Given the description of an element on the screen output the (x, y) to click on. 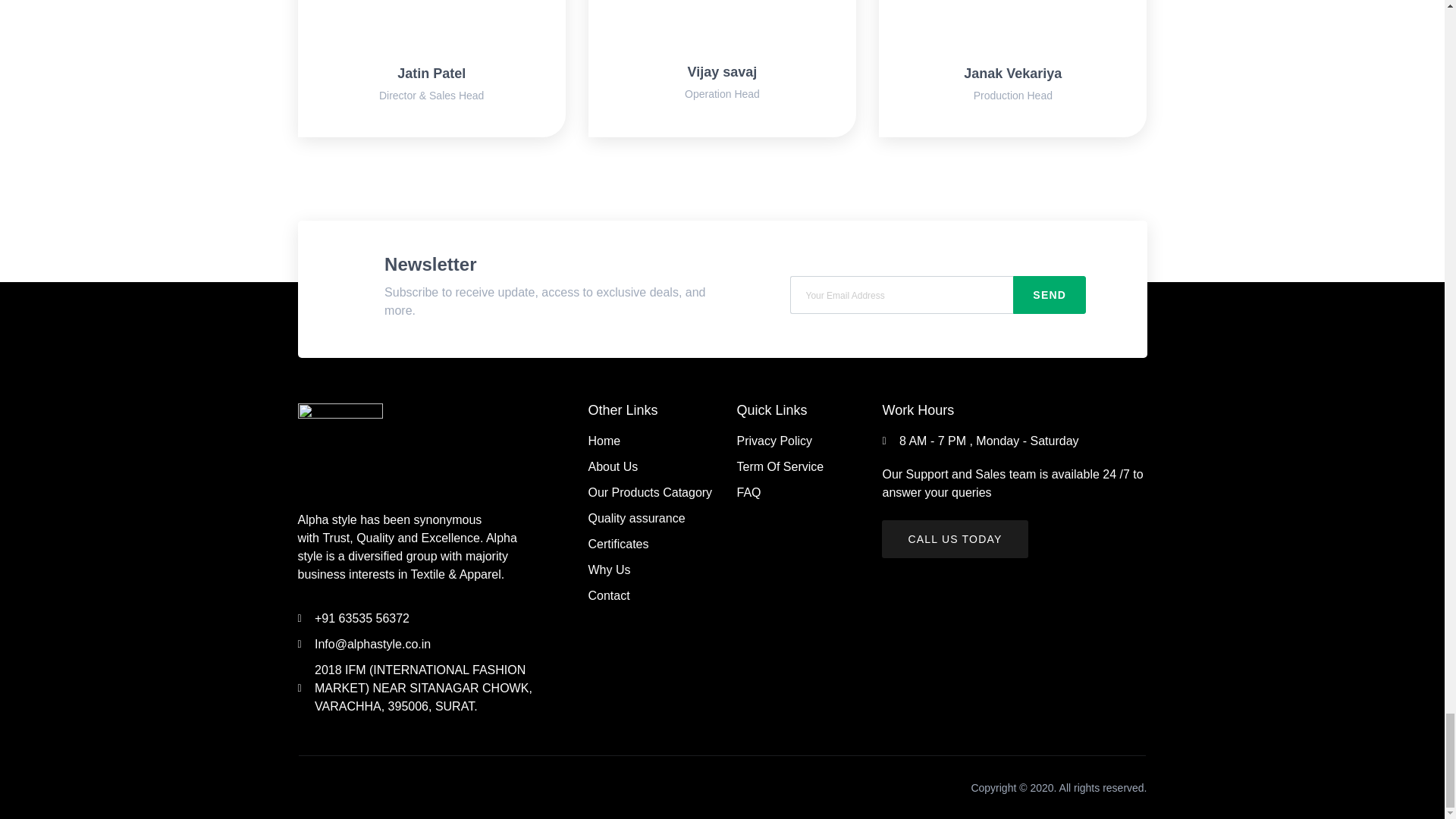
Contact (654, 596)
Certificates (654, 544)
Why Us (654, 570)
Quality assurance (654, 518)
Our Products Catagory (654, 493)
About Us (654, 466)
Privacy Policy (790, 441)
Term Of Service (790, 466)
CALL US TODAY (954, 538)
FAQ (790, 493)
